Given the description of an element on the screen output the (x, y) to click on. 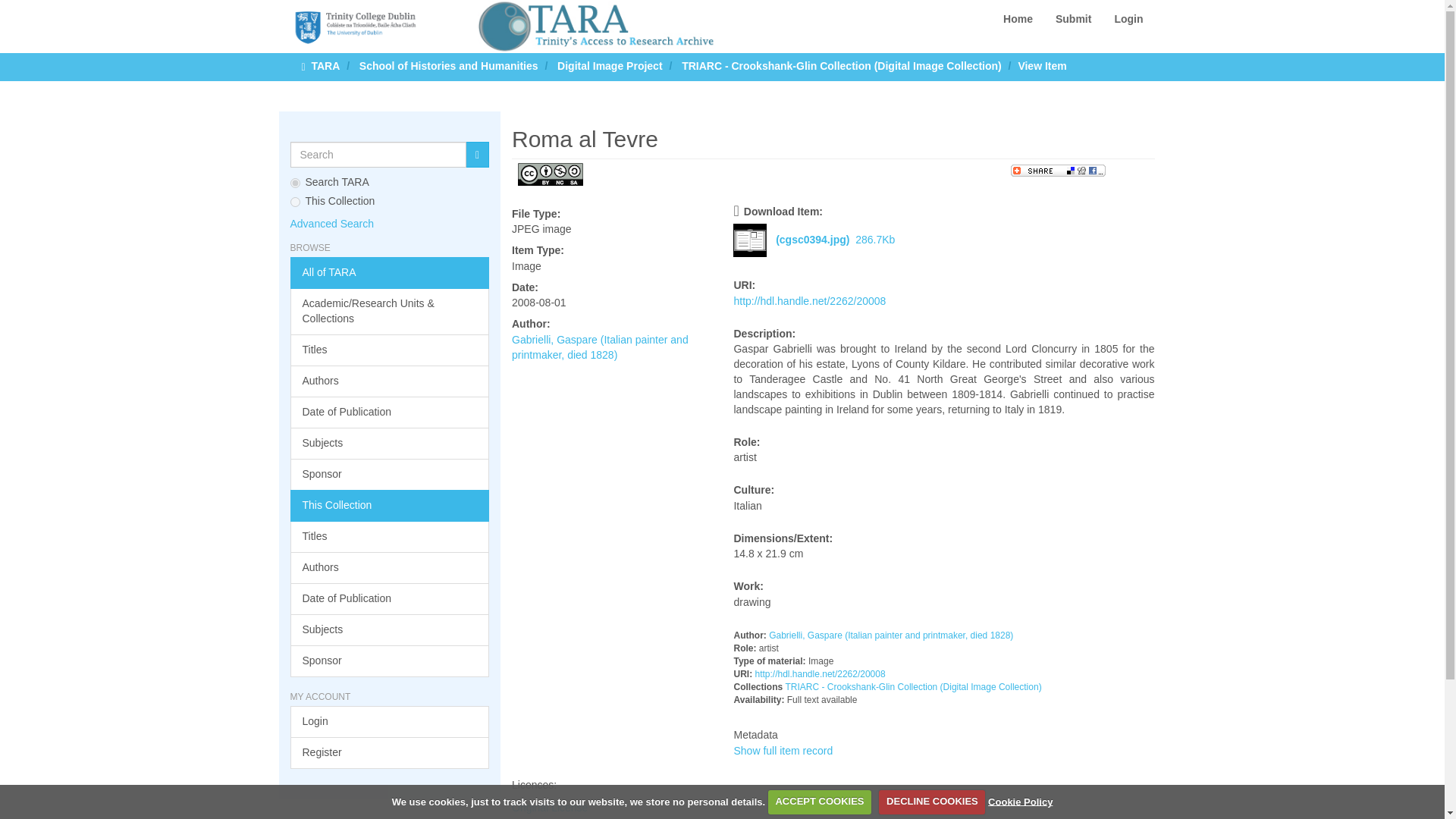
School of Histories and Humanities (448, 65)
Advanced Search (331, 223)
Date of Publication (389, 599)
This Collection (389, 505)
Home (1017, 18)
Date of Publication (389, 412)
Login (389, 721)
Login (1128, 18)
Digital Image Project (609, 65)
TARA (325, 65)
Subjects (389, 630)
Sponsor (389, 474)
Authors (389, 567)
Submit (1072, 18)
